Given the description of an element on the screen output the (x, y) to click on. 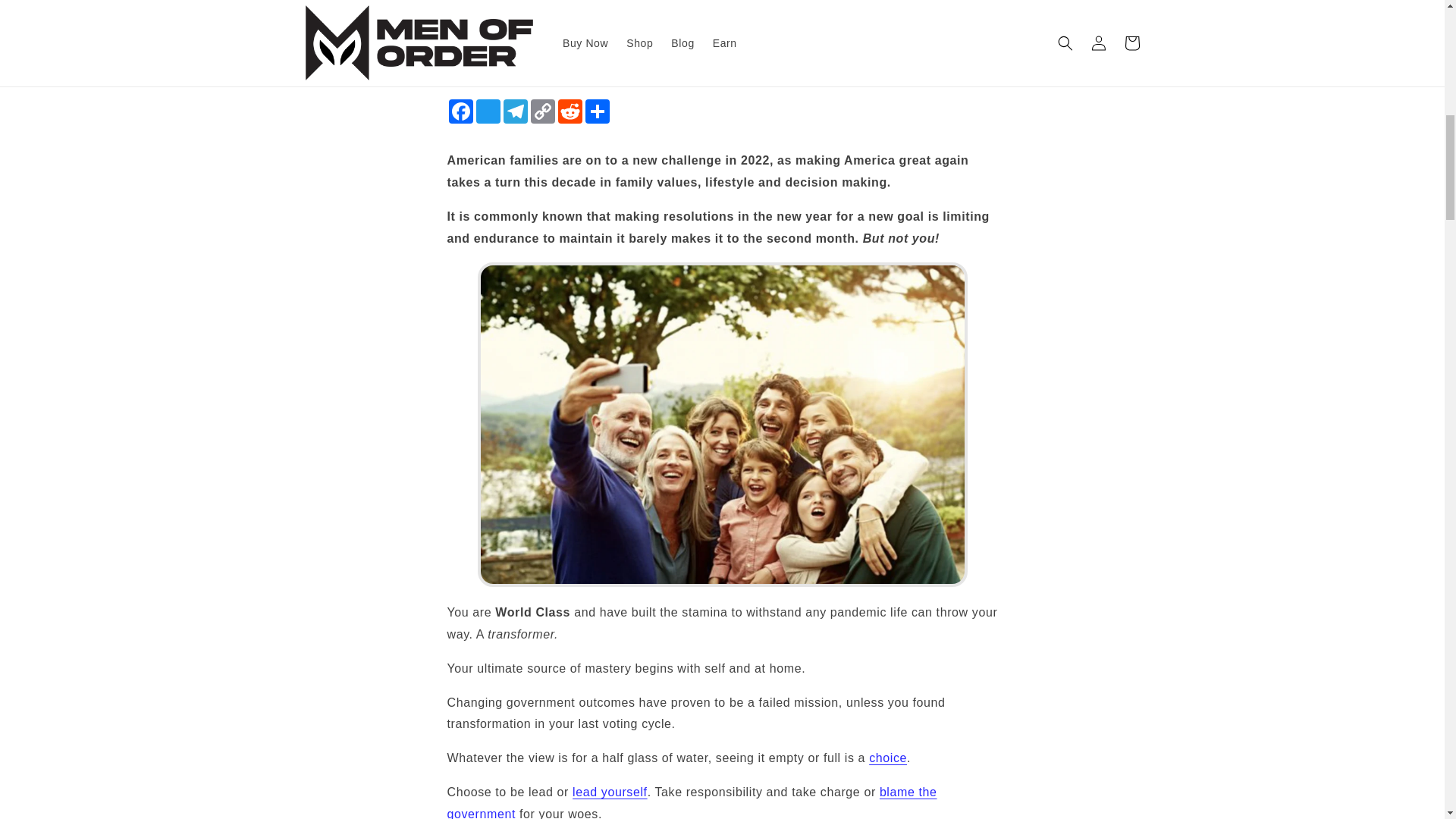
Reddit (569, 111)
choice (888, 757)
Facebook (460, 111)
lead yourself (609, 791)
Share (597, 111)
Copy Link (542, 111)
Telegram (515, 111)
Twitter (488, 111)
blame the government (691, 802)
